Given the description of an element on the screen output the (x, y) to click on. 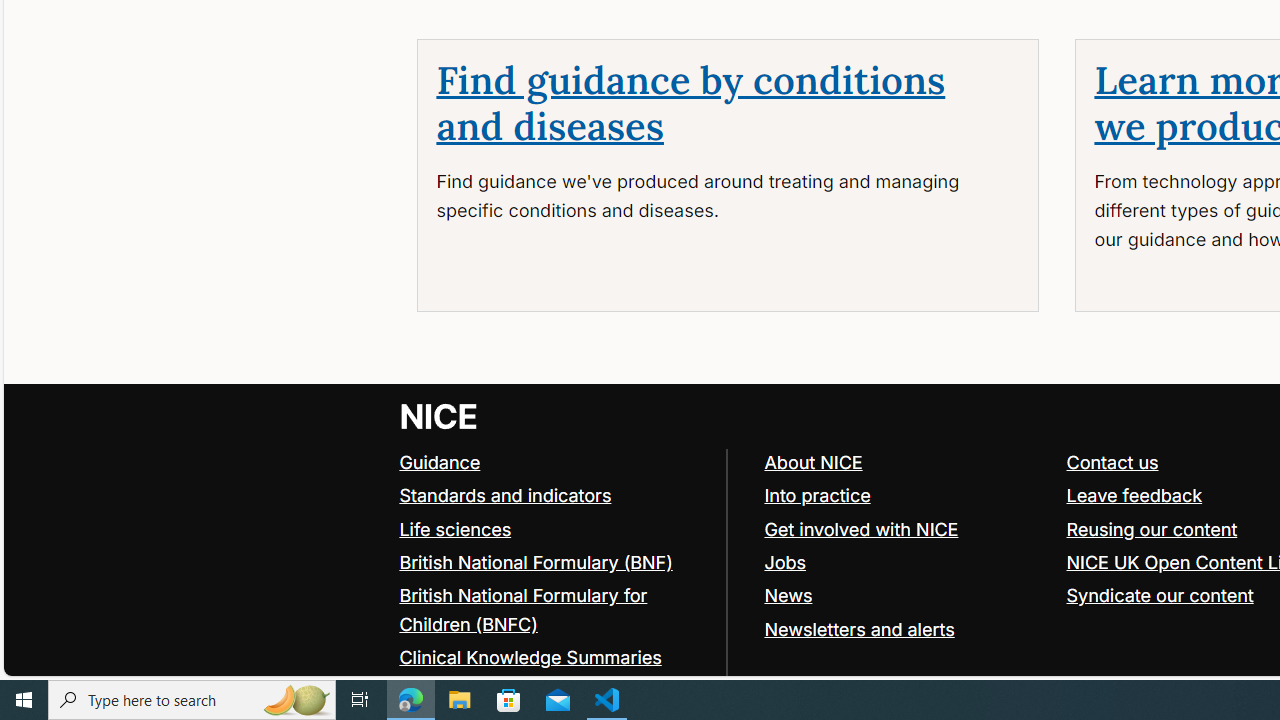
Into practice (817, 494)
Newsletters and alerts (859, 628)
News (906, 596)
Newsletters and alerts (906, 628)
Find guidance by conditions and diseases (690, 103)
Life sciences (554, 529)
News (788, 594)
Syndicate our content (1160, 594)
Contact us (1112, 461)
Leave feedback (1134, 494)
Into practice (906, 495)
About NICE (906, 462)
Get involved with NICE (861, 528)
